Given the description of an element on the screen output the (x, y) to click on. 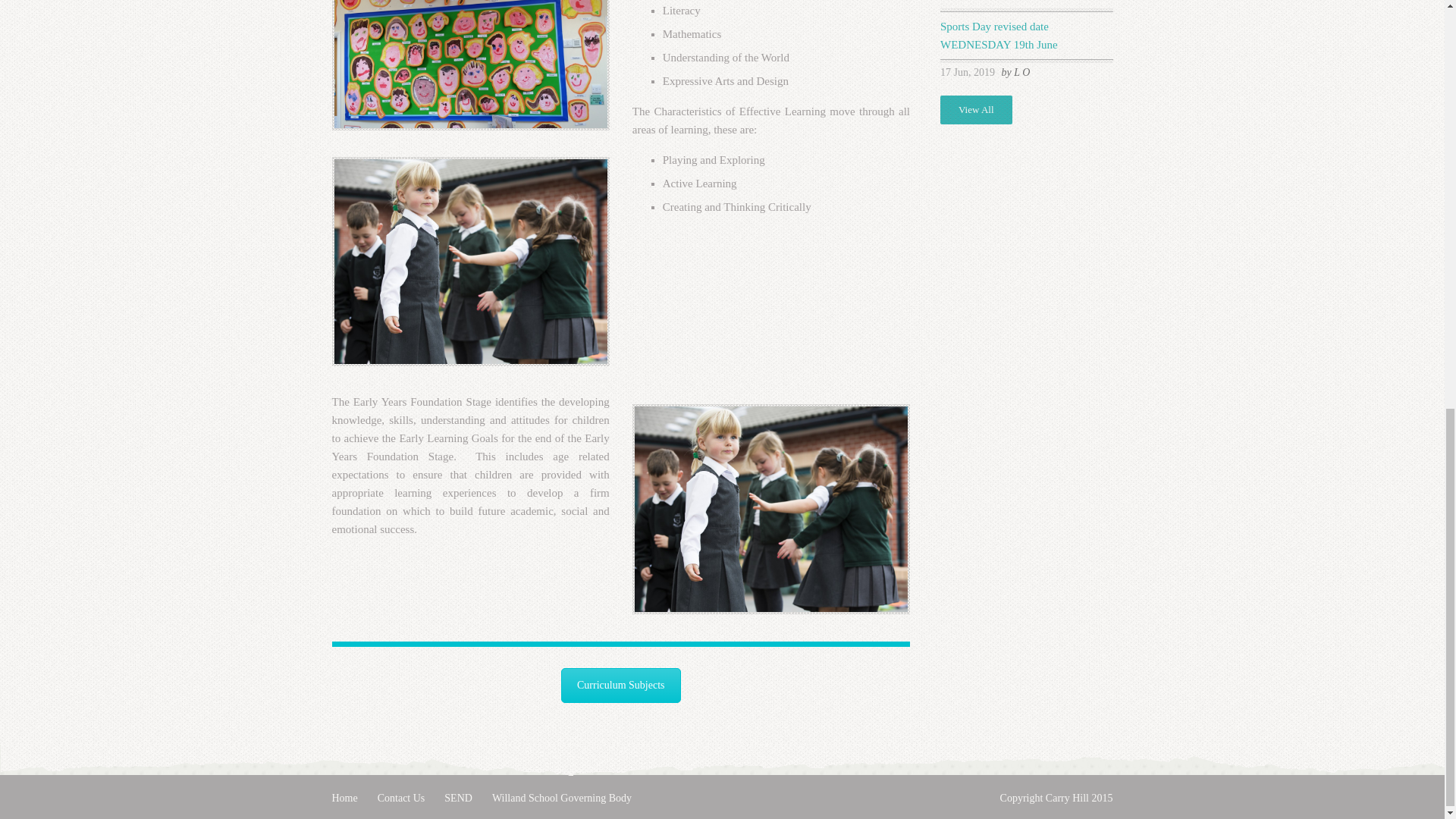
30-foundation11 (770, 508)
foundation-portraits (470, 65)
Sports Day revised date WEDNESDAY 19th June (999, 35)
30-foundation11 (470, 261)
